Given the description of an element on the screen output the (x, y) to click on. 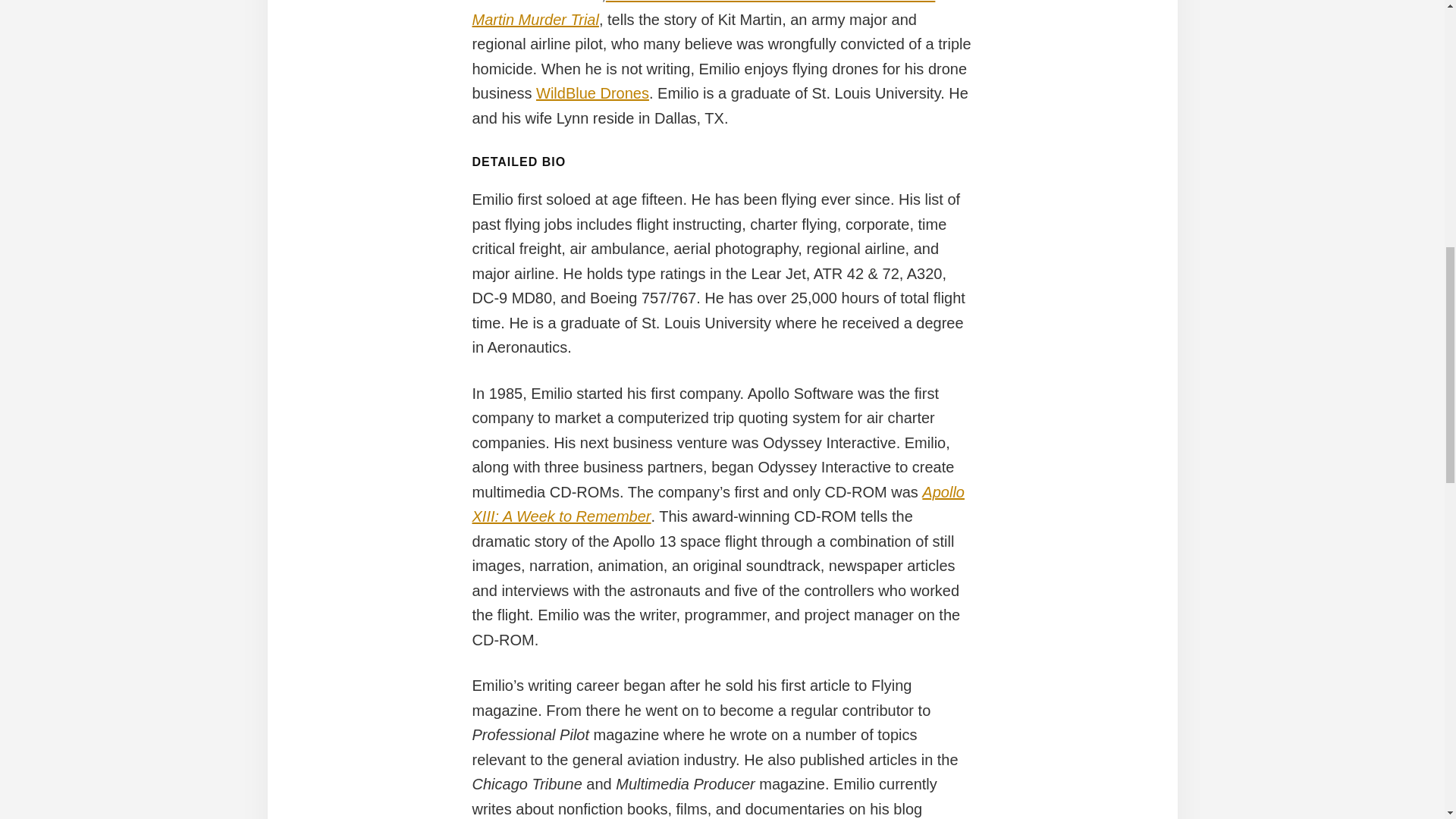
Apollo 13 (717, 504)
